Given the description of an element on the screen output the (x, y) to click on. 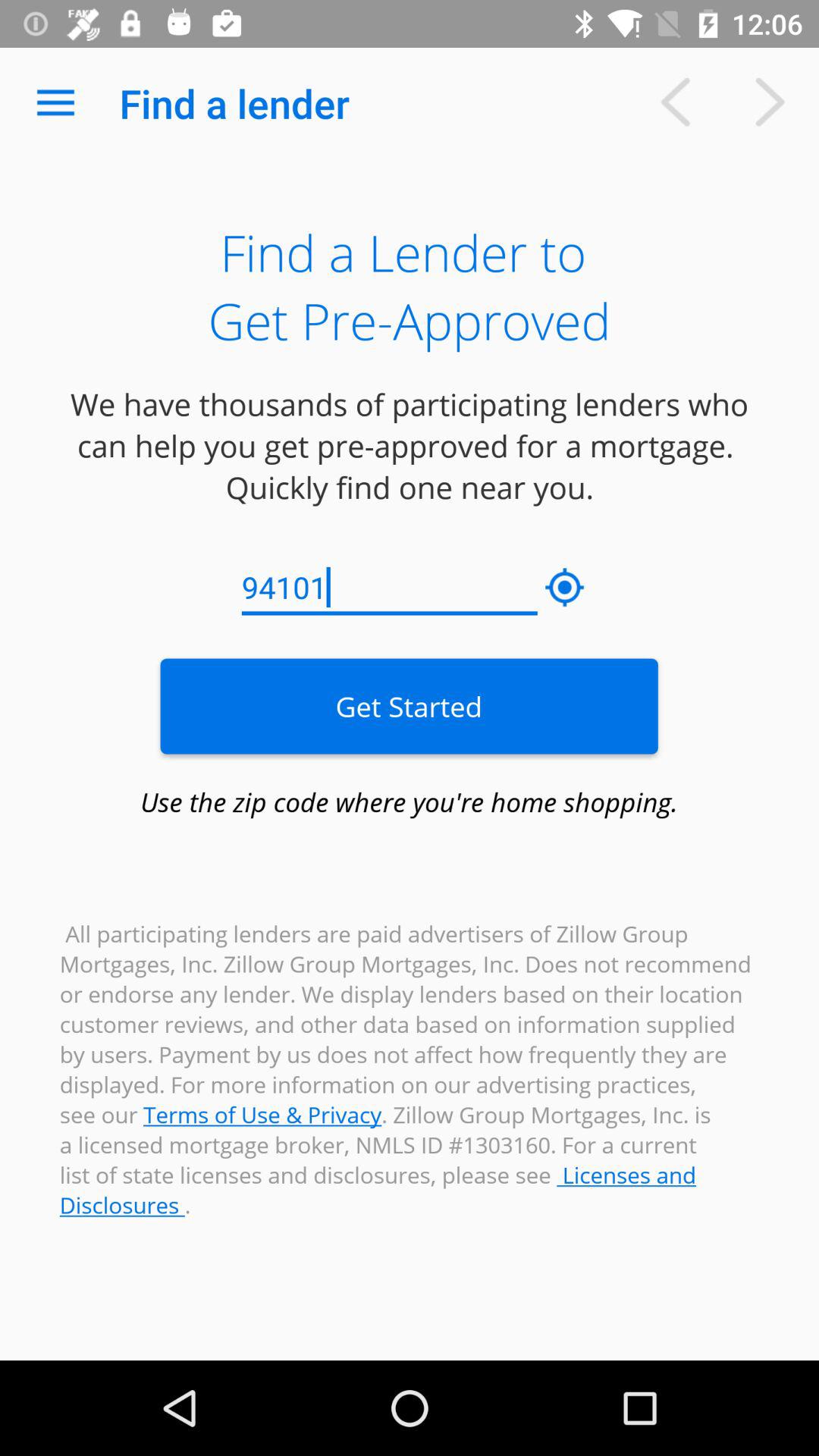
press the app next to find a lender icon (55, 103)
